Given the description of an element on the screen output the (x, y) to click on. 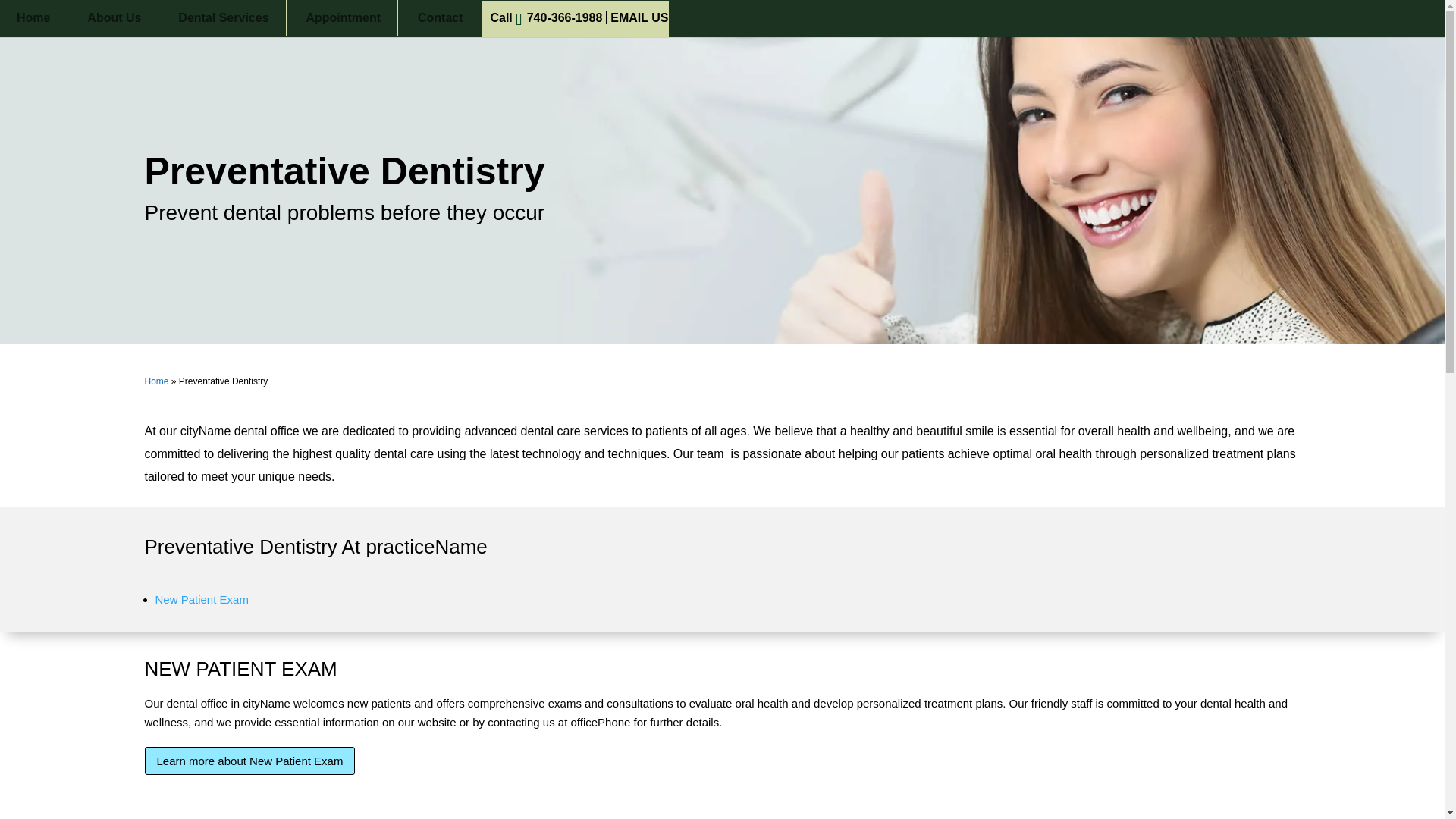
Learn more about New Patient Exam (249, 760)
About Us (114, 18)
Home (32, 18)
New Patient Exam (722, 604)
Dental Services (222, 18)
EMAIL US (639, 17)
Call 740-366-1988 (548, 17)
Appointment (342, 18)
New Patient Exam (200, 599)
Home (156, 380)
